Given the description of an element on the screen output the (x, y) to click on. 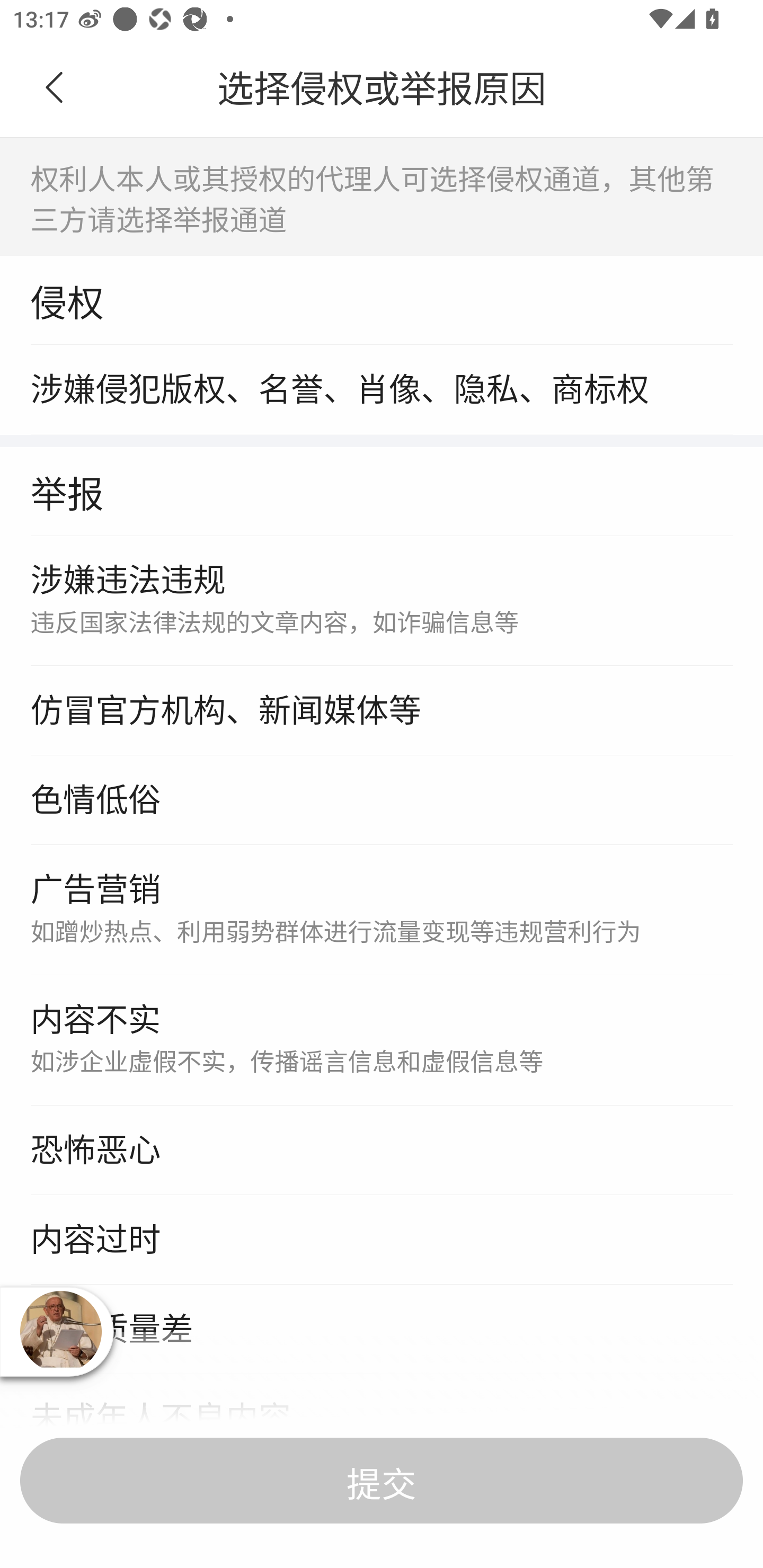
 返回 (54, 87)
选择侵权或举报原因 (381, 88)
涉嫌侵犯版权、名誉、肖像、隐私、商标权 (381, 389)
涉嫌违法违规 违反国家法律法规的文章内容，如诈骗信息等 (381, 600)
仿冒官方机构、新闻媒体等 (381, 710)
色情低俗 (381, 800)
广告营销 如蹭炒热点、利用弱势群体进行流量变现等违规营利行为 (381, 910)
内容不实 如涉企业虚假不实，传播谣言信息和虚假信息等 (381, 1041)
恐怖恶心 (381, 1150)
内容过时 (381, 1239)
播放器 (60, 1331)
提交 (381, 1480)
